Given the description of an element on the screen output the (x, y) to click on. 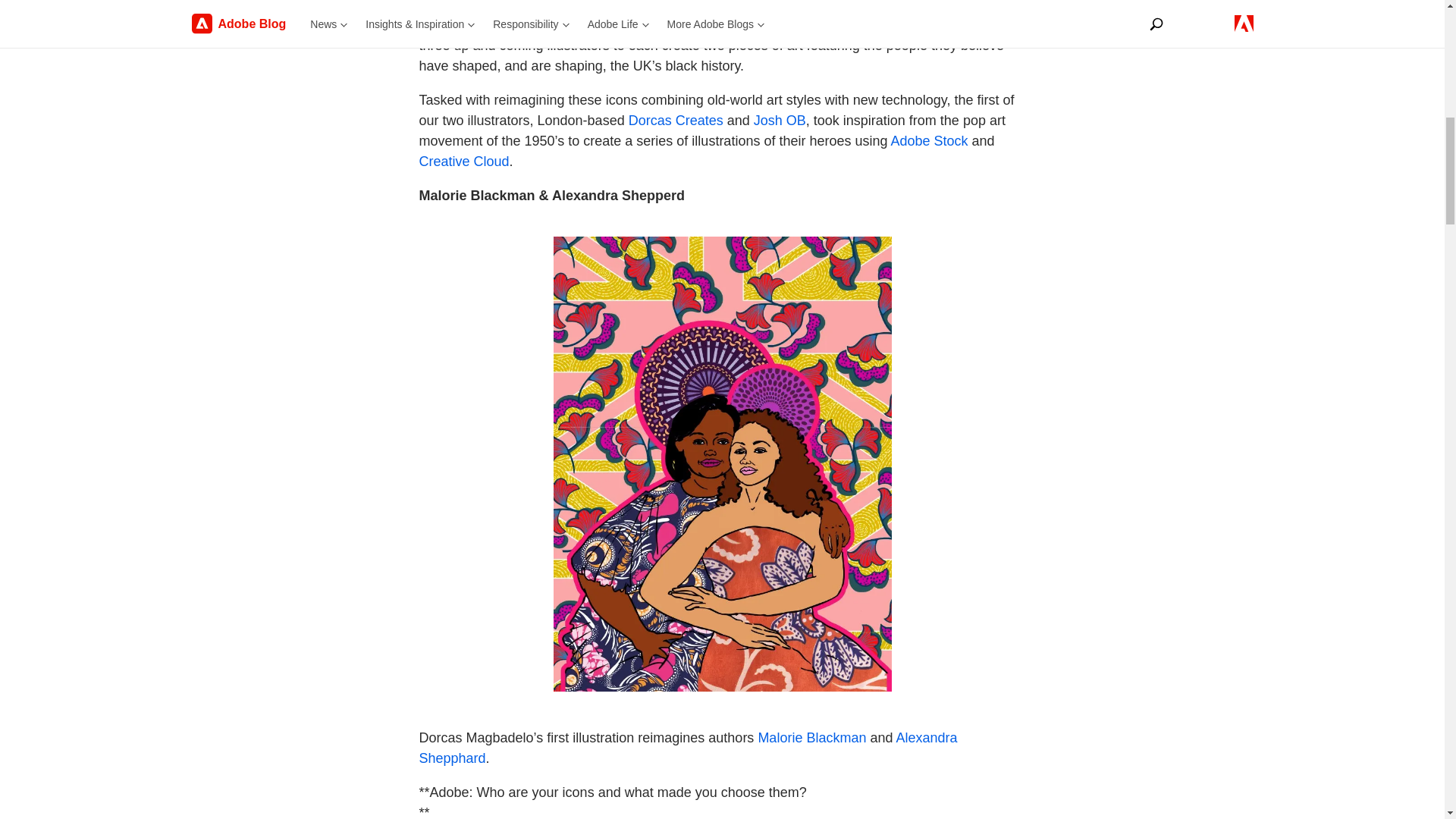
History and Memory (762, 24)
Malorie Blackman (811, 737)
Josh OB (780, 120)
Dorcas Creates (675, 120)
Creative Cloud (463, 160)
Adobe Stock (929, 140)
